Given the description of an element on the screen output the (x, y) to click on. 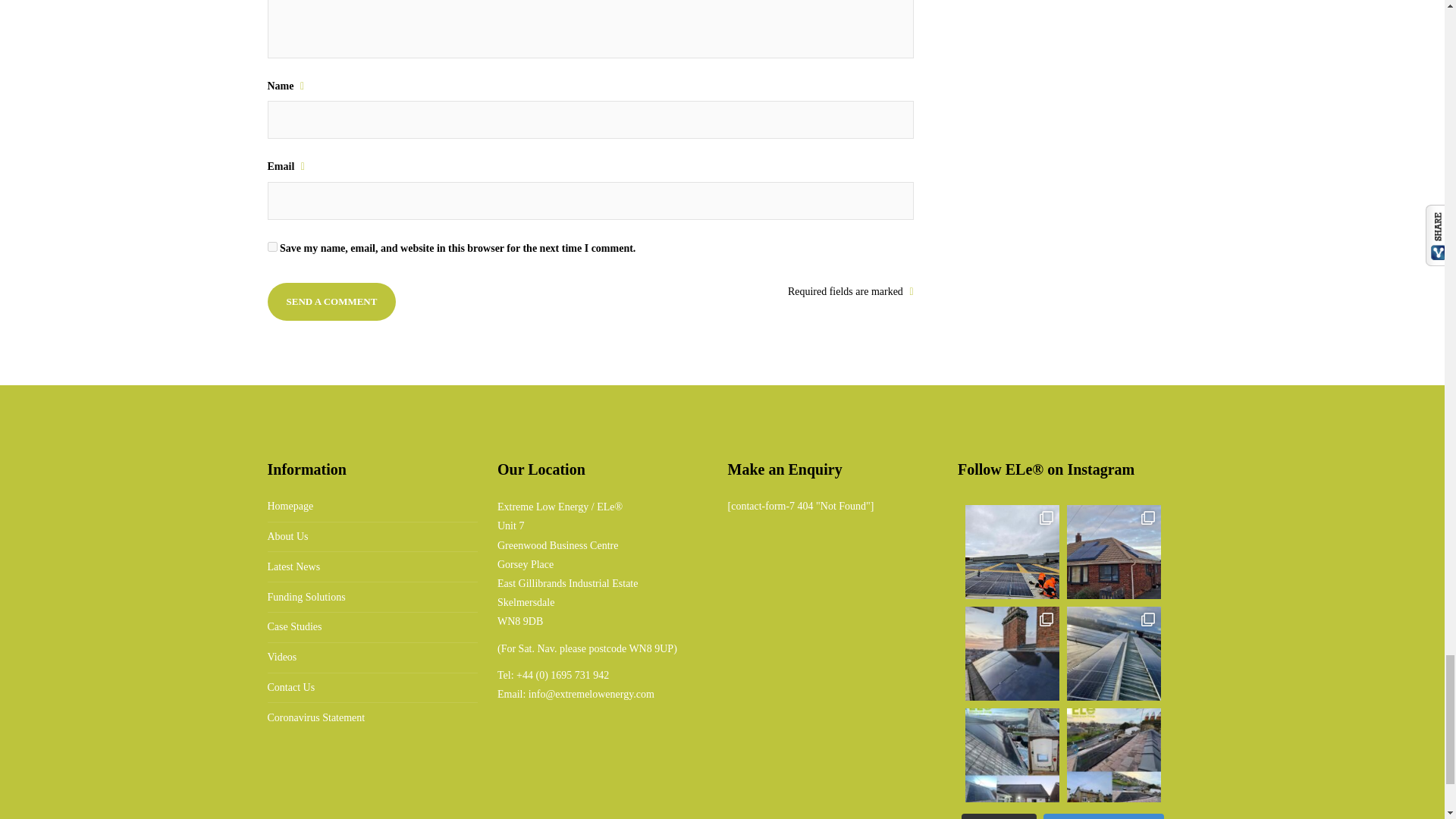
Send a comment (331, 301)
yes (271, 246)
